Given the description of an element on the screen output the (x, y) to click on. 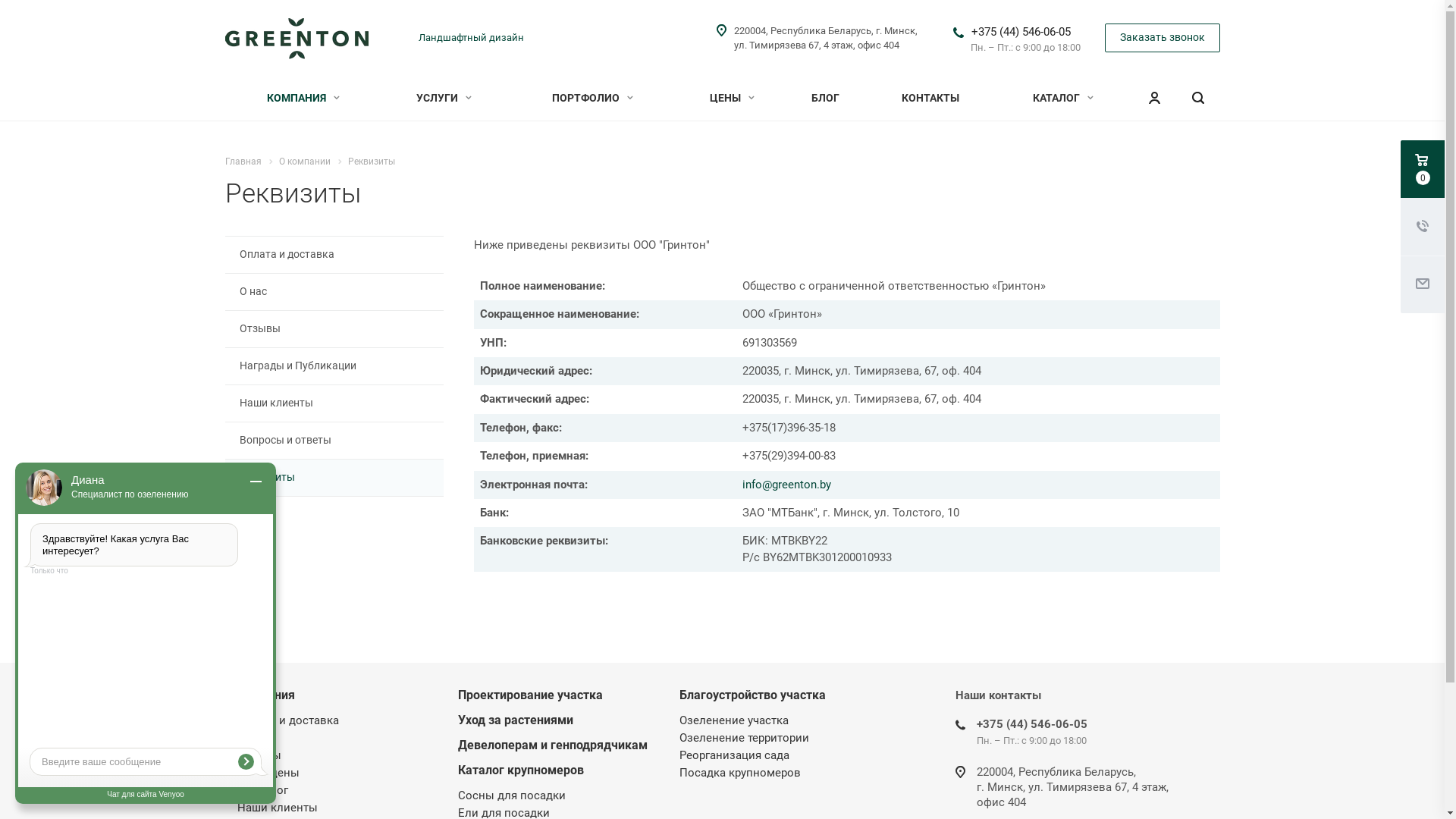
+375 (44) 546-06-05 Element type: text (1020, 31)
+375 (44) 546-06-05 Element type: text (1031, 723)
info@greenton.by Element type: text (786, 484)
greenton.by Element type: hover (296, 38)
